Given the description of an element on the screen output the (x, y) to click on. 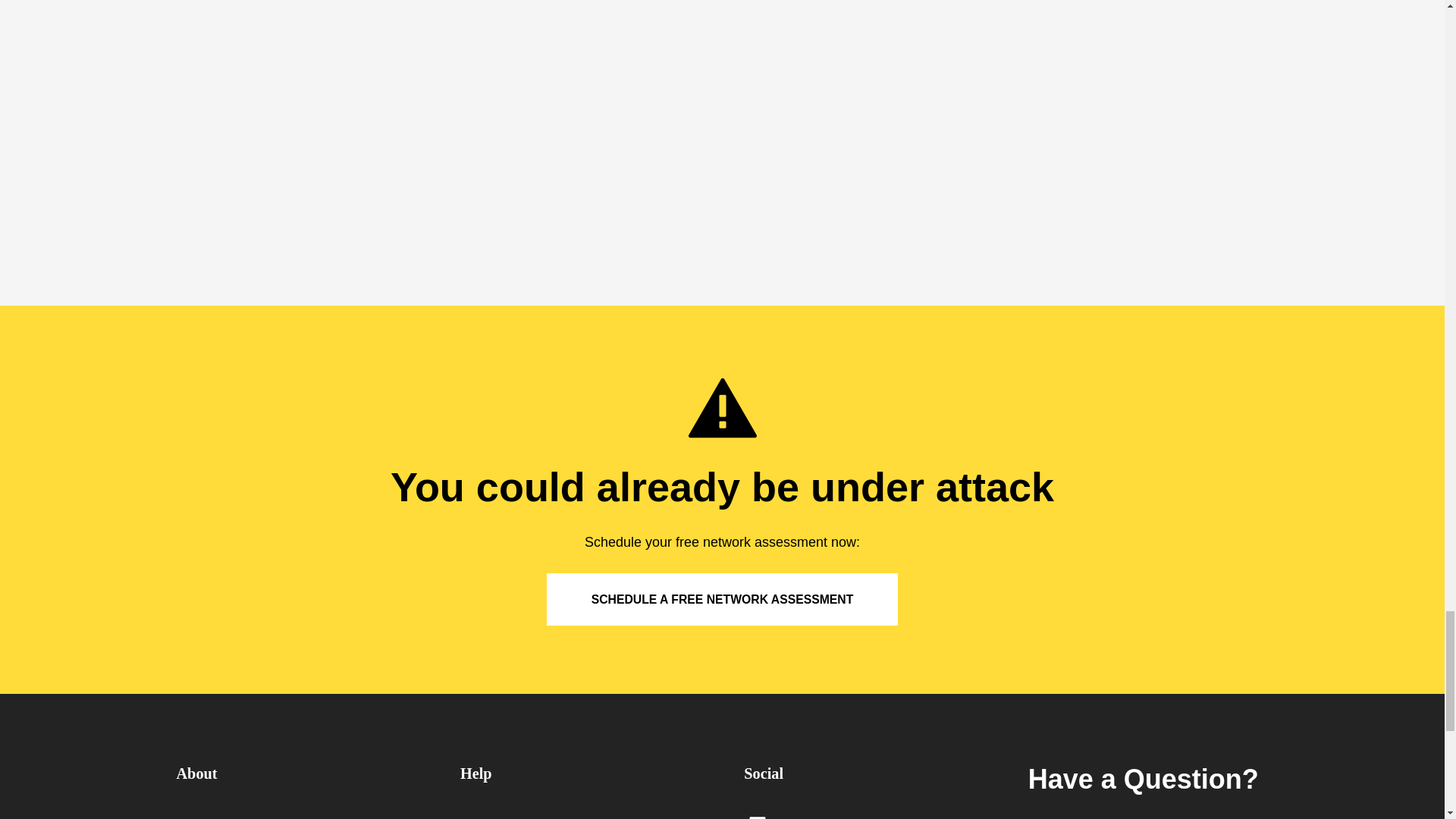
Managed Services (296, 815)
FAQs (580, 815)
SCHEDULE A FREE NETWORK ASSESSMENT (722, 599)
